Given the description of an element on the screen output the (x, y) to click on. 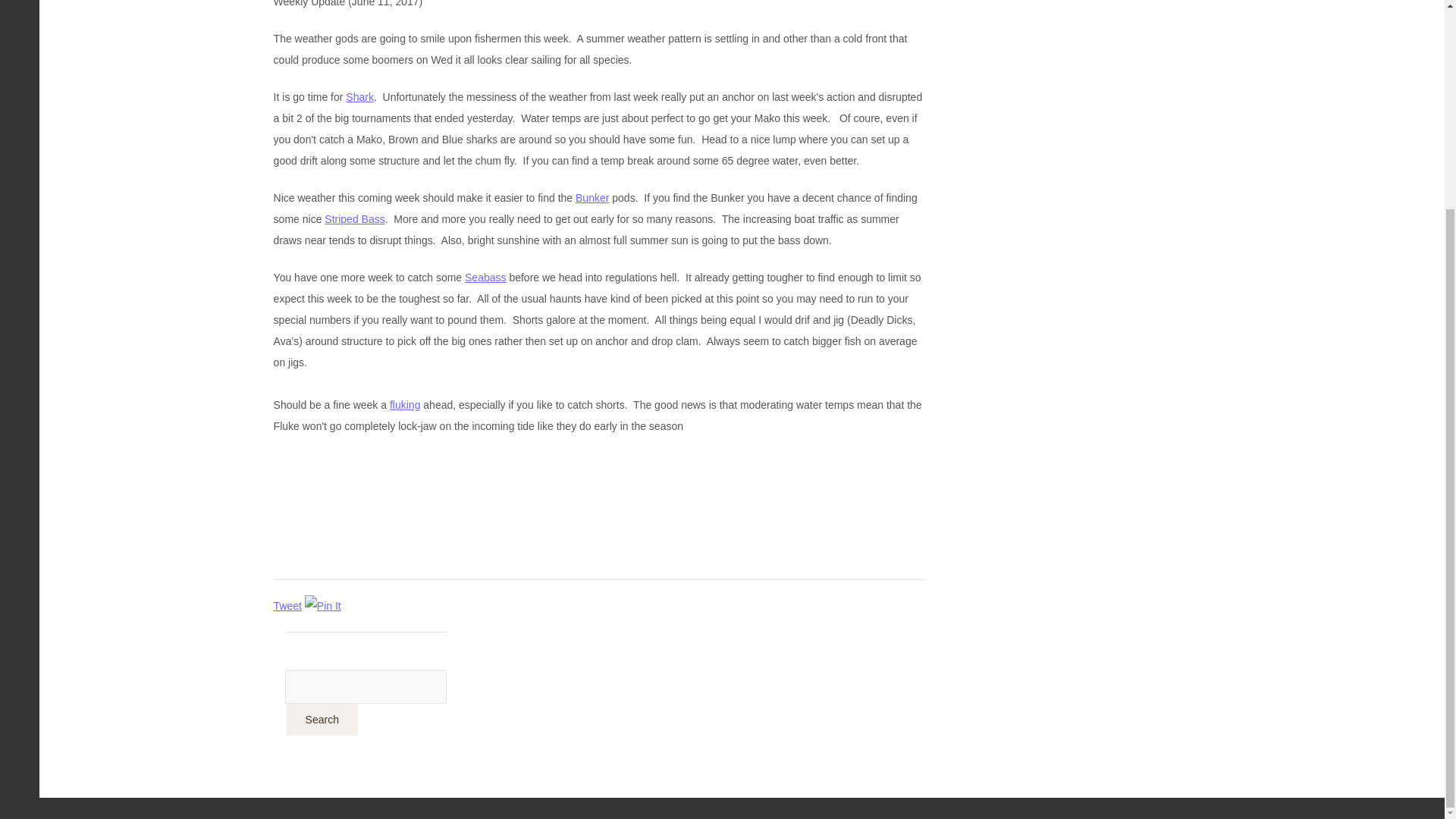
Search (322, 719)
Seabass (484, 277)
Shark (360, 96)
Tweet (287, 605)
Striped Bass (354, 218)
Bunker (591, 197)
Search (322, 719)
fluking (405, 404)
